Given the description of an element on the screen output the (x, y) to click on. 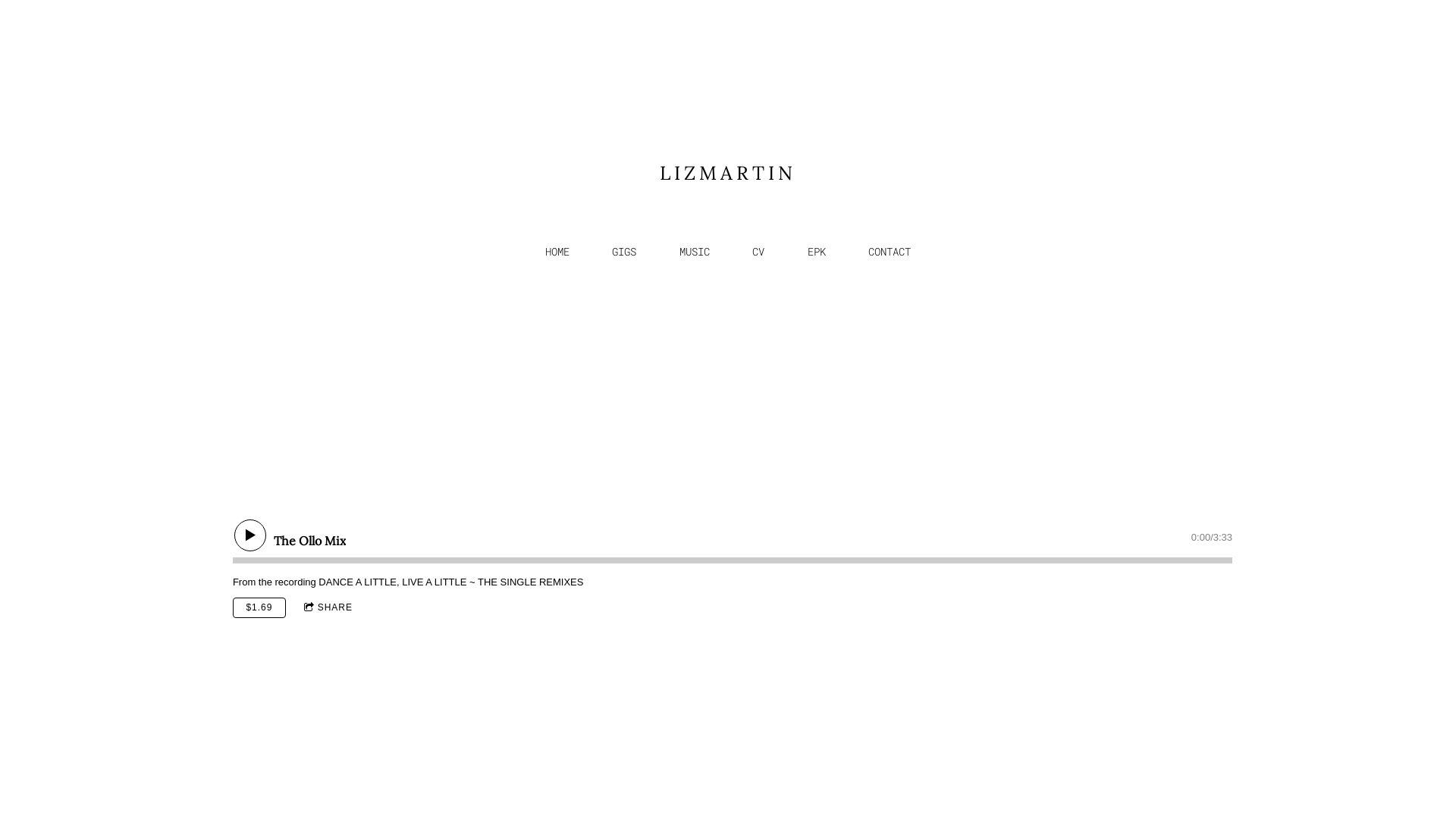
CV Element type: text (758, 251)
EPK Element type: text (816, 251)
$1.69 Element type: text (258, 607)
MUSIC Element type: text (694, 251)
HOME Element type: text (557, 251)
LIZMARTIN Element type: text (727, 173)
Play Element type: hover (250, 535)
DANCE A LITTLE, LIVE A LITTLE ~ THE SINGLE REMIXES Element type: text (450, 581)
GIGS Element type: text (623, 251)
CONTACT Element type: text (889, 251)
SHARE Element type: text (327, 607)
